Given the description of an element on the screen output the (x, y) to click on. 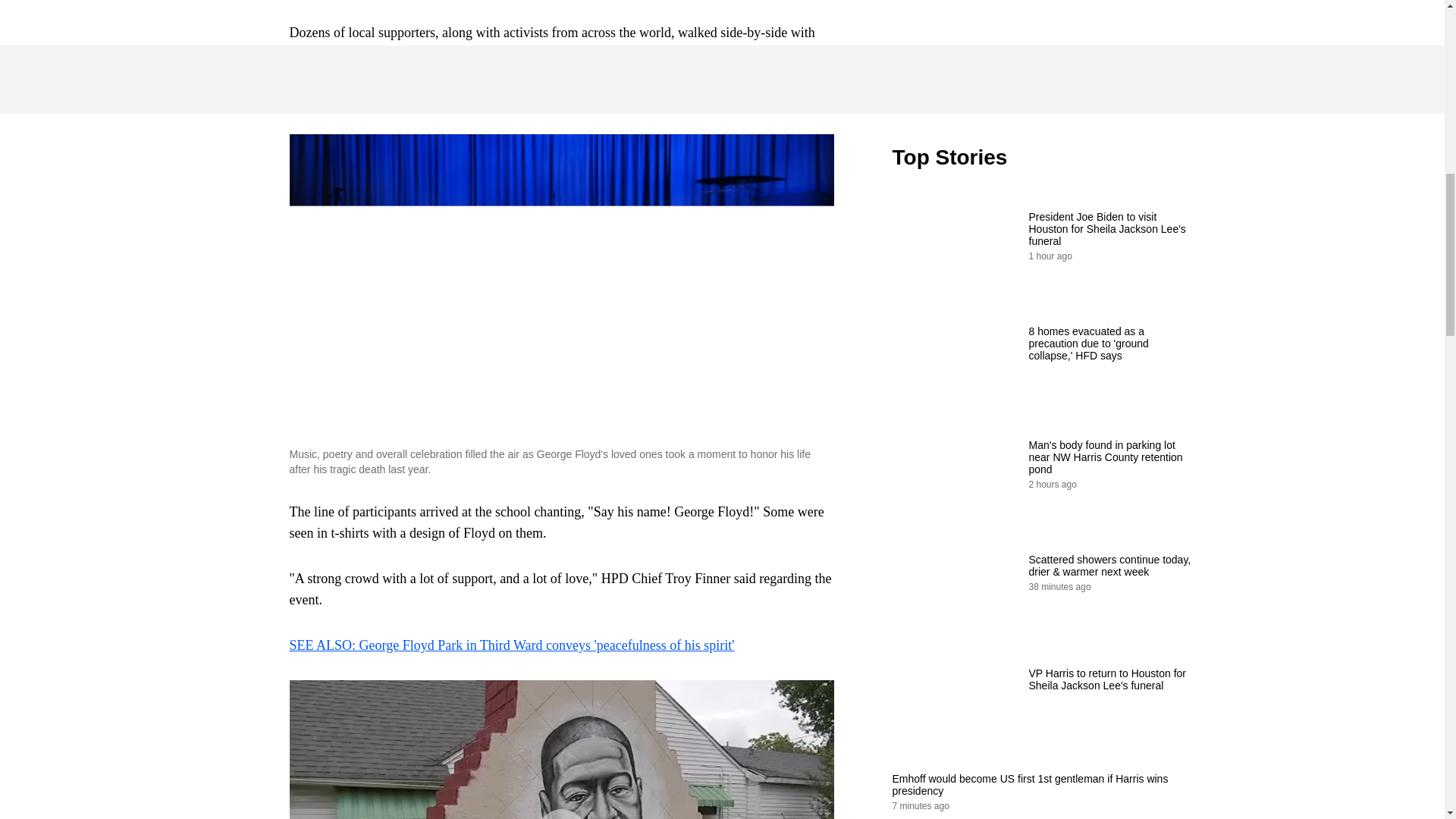
video.title (1043, 48)
